Given the description of an element on the screen output the (x, y) to click on. 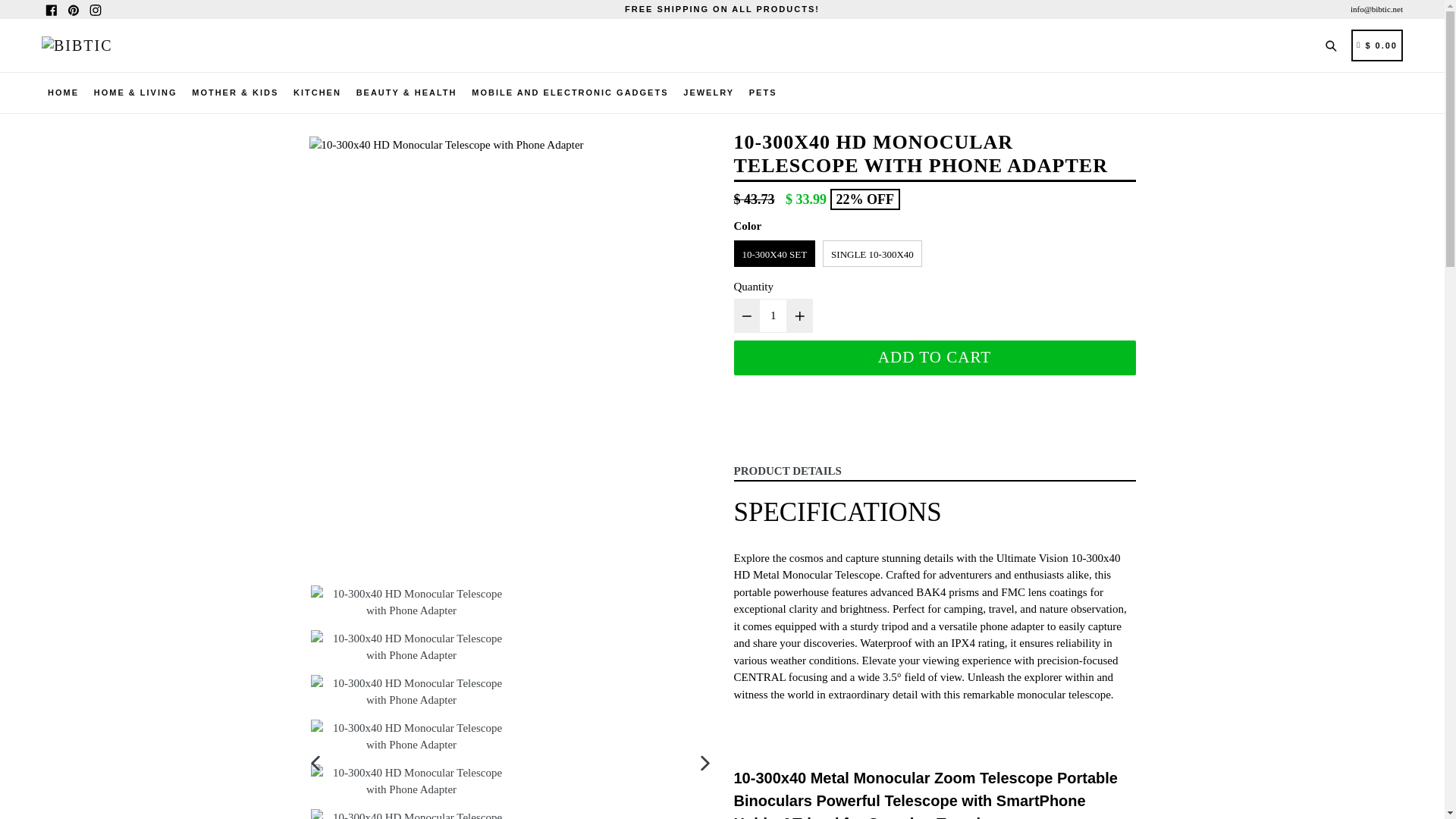
Instagram (94, 9)
PETS (762, 92)
NEXT SLIDE (705, 762)
Bibtic on Pinterest (73, 9)
PREVIOUS SLIDE (315, 762)
KITCHEN (316, 92)
Bibtic on Facebook (51, 9)
MOBILE AND ELECTRONIC GADGETS (569, 92)
JEWELRY (708, 92)
Facebook (51, 9)
Bibtic on Instagram (94, 9)
Search (1334, 44)
Pinterest (73, 9)
HOME (63, 92)
